Given the description of an element on the screen output the (x, y) to click on. 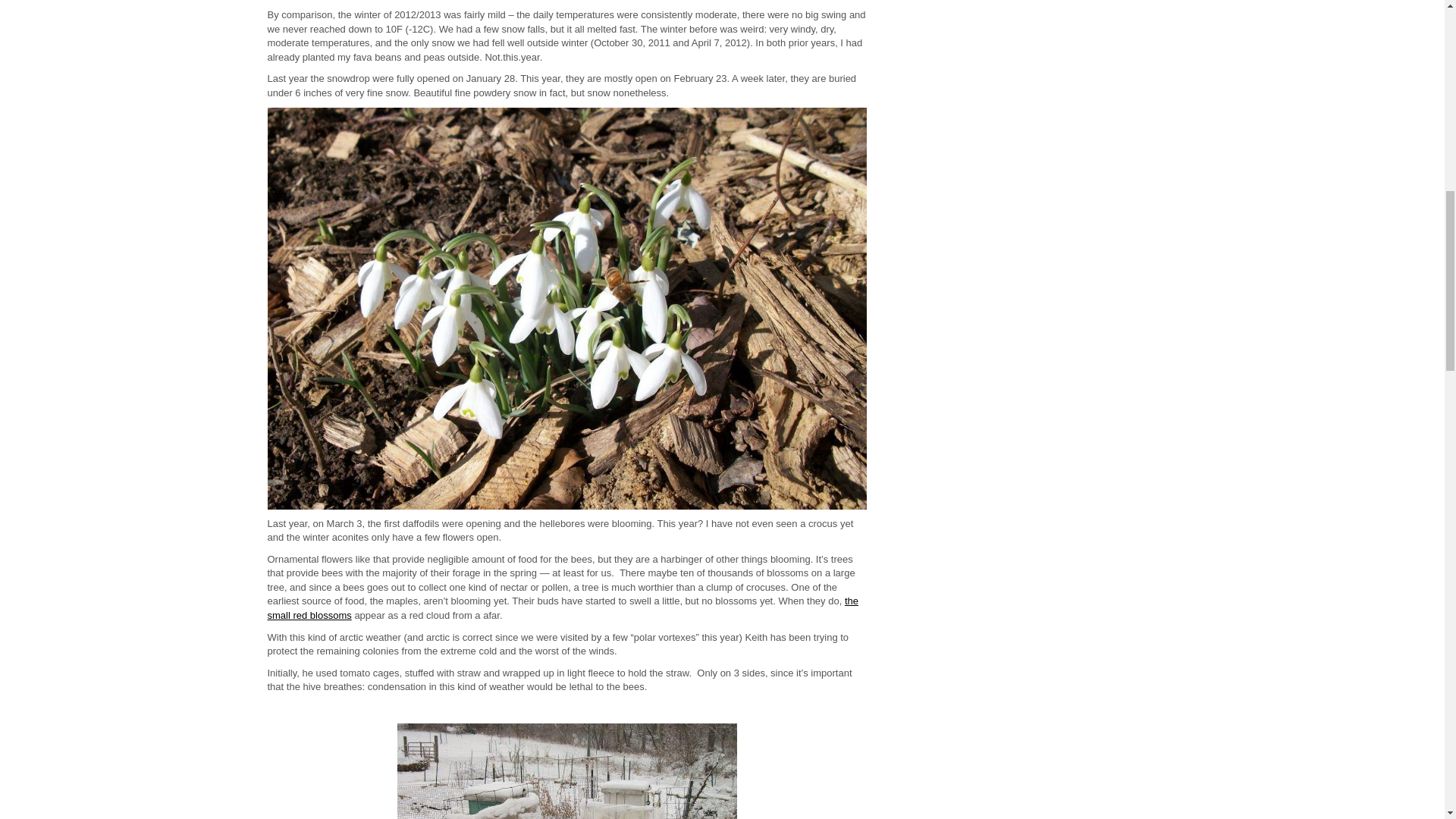
the small red blossoms (561, 607)
Maples in Bloom (561, 607)
